Given the description of an element on the screen output the (x, y) to click on. 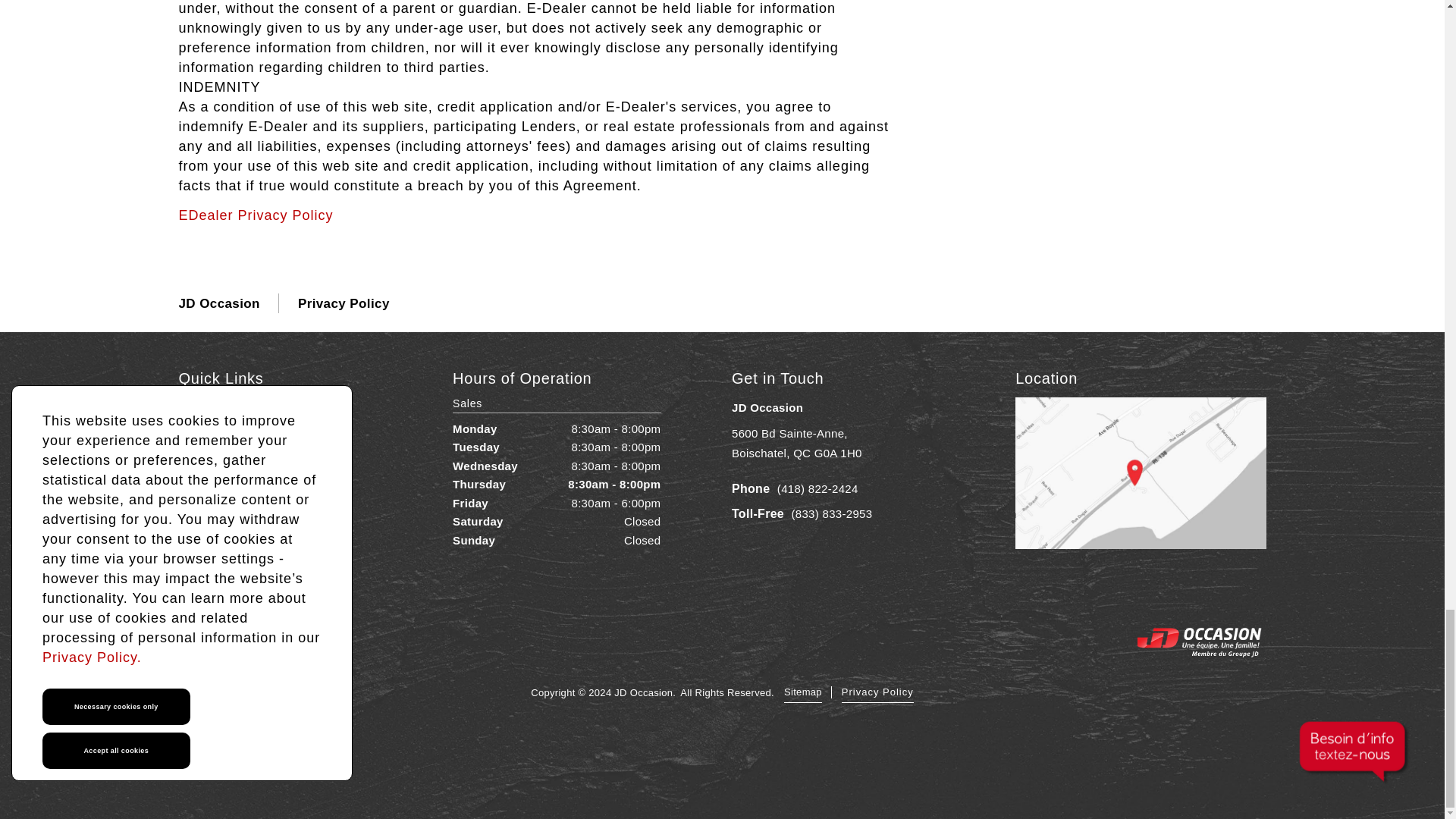
Sitemap (803, 692)
JD Occasion (219, 303)
Reviews (257, 482)
Apply for Credit (257, 457)
EDealer Privacy Policy (256, 215)
Go to JD Occasion. (219, 303)
Privacy Policy (877, 692)
Our Inventory (257, 407)
Location Image Map (1139, 472)
Our Team (257, 532)
About Us (796, 442)
Second Chance Financing (257, 507)
Sitemap (257, 432)
Contact (803, 692)
